Given the description of an element on the screen output the (x, y) to click on. 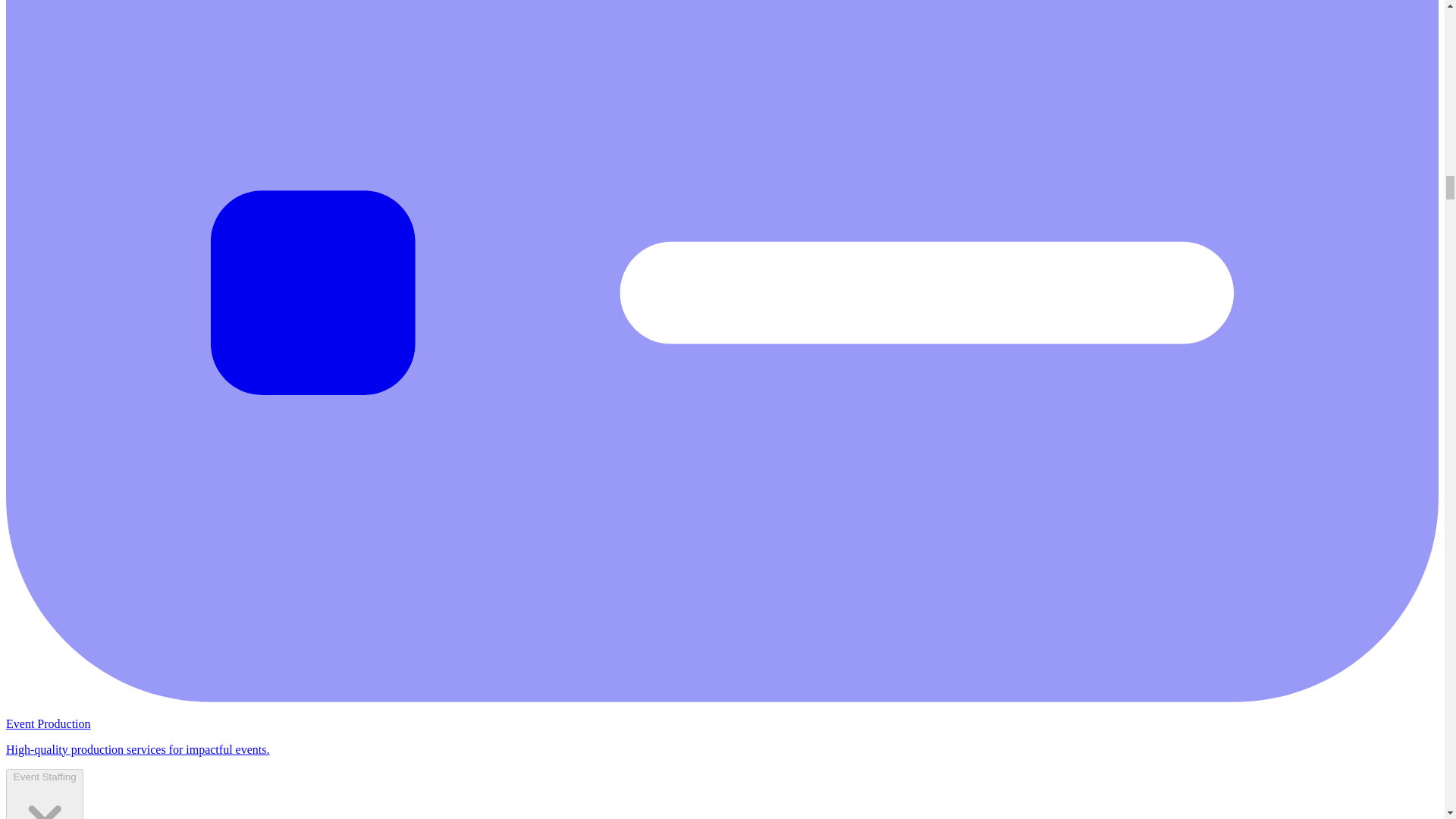
Event Staffing (43, 794)
